Given the description of an element on the screen output the (x, y) to click on. 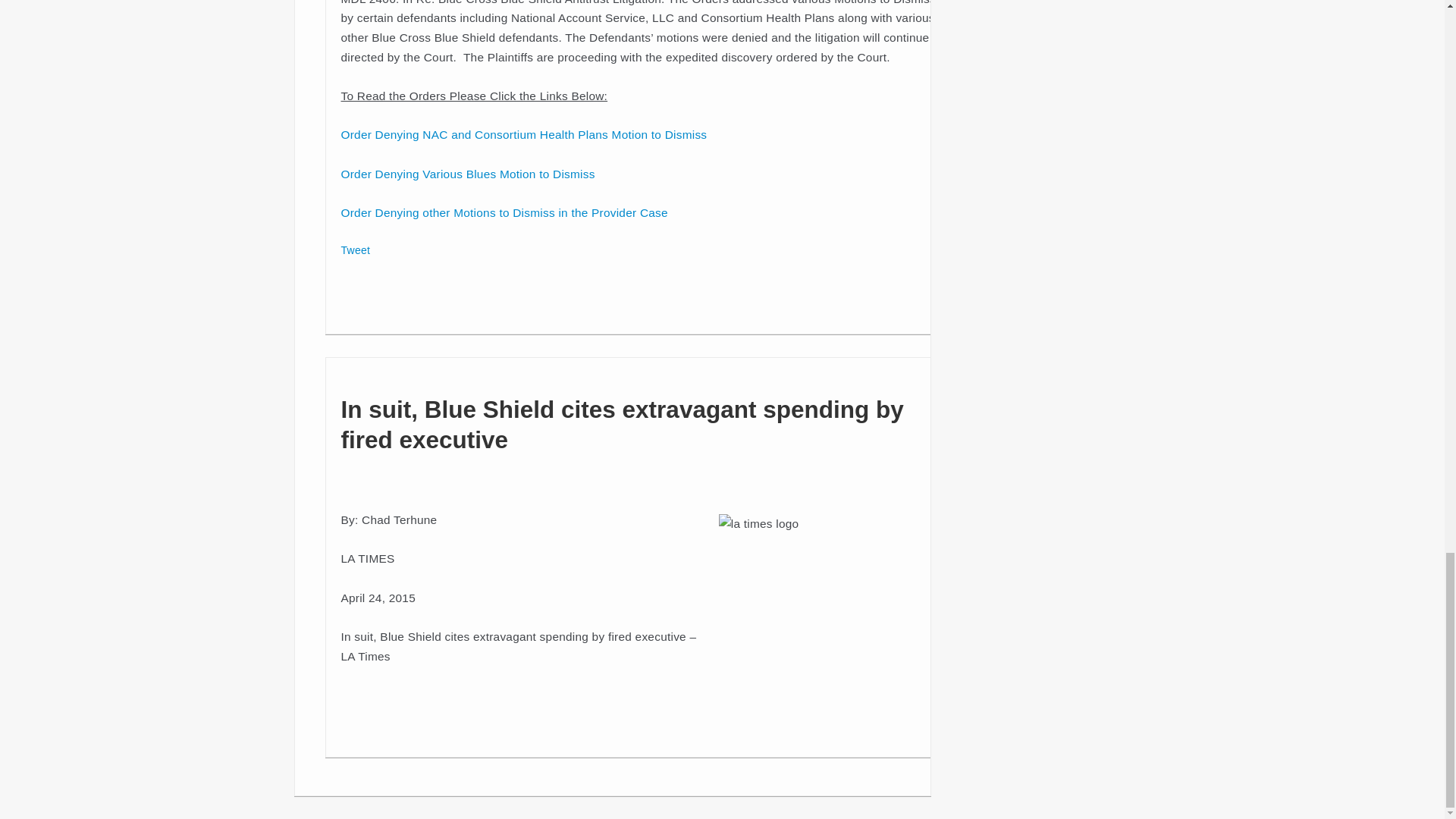
Order Denying other Motions to Dismiss in the Provider Case (504, 212)
Order Denying Various Blues Motion to Dismiss (467, 173)
Tweet (355, 250)
